Given the description of an element on the screen output the (x, y) to click on. 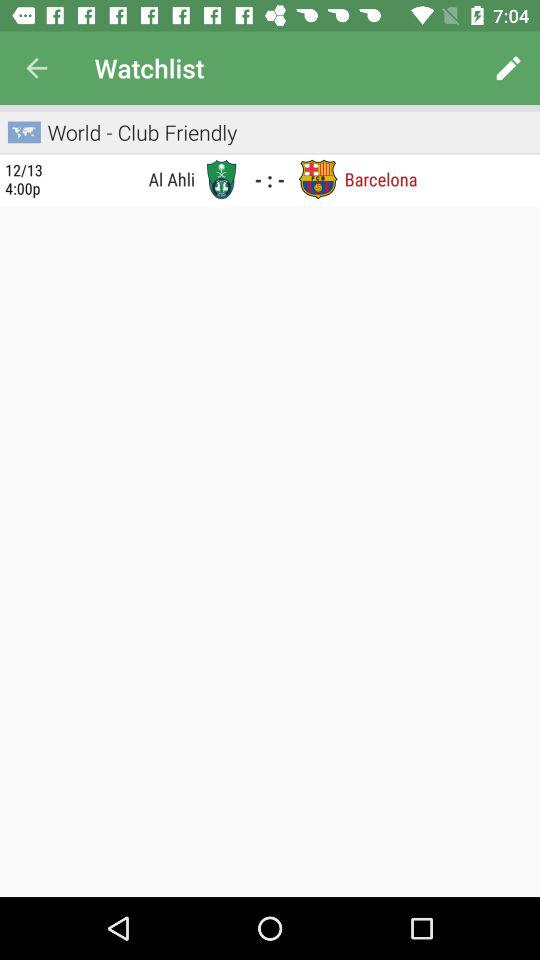
launch the al ahli (125, 178)
